Given the description of an element on the screen output the (x, y) to click on. 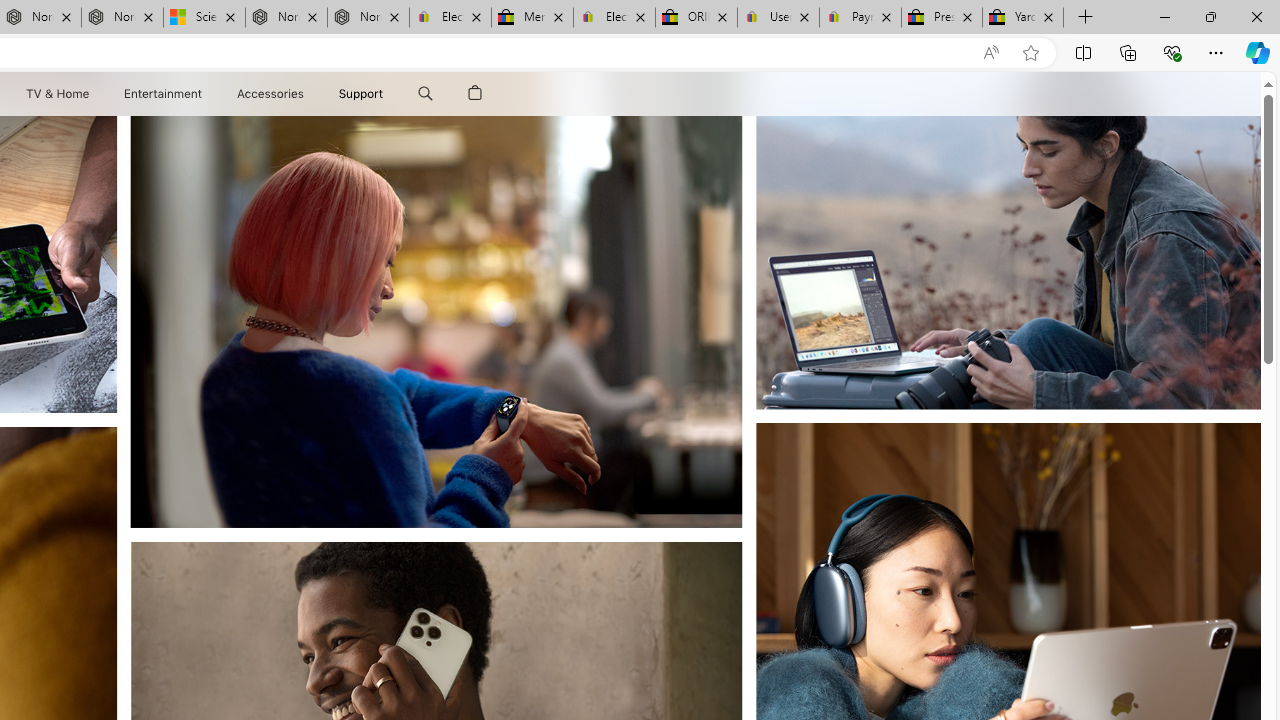
Search Support (425, 93)
Accessories (269, 93)
Support (361, 93)
TV and Home menu (92, 93)
Nordace - FAQ (368, 17)
TV and Home (56, 93)
Entertainment menu (205, 93)
